Given the description of an element on the screen output the (x, y) to click on. 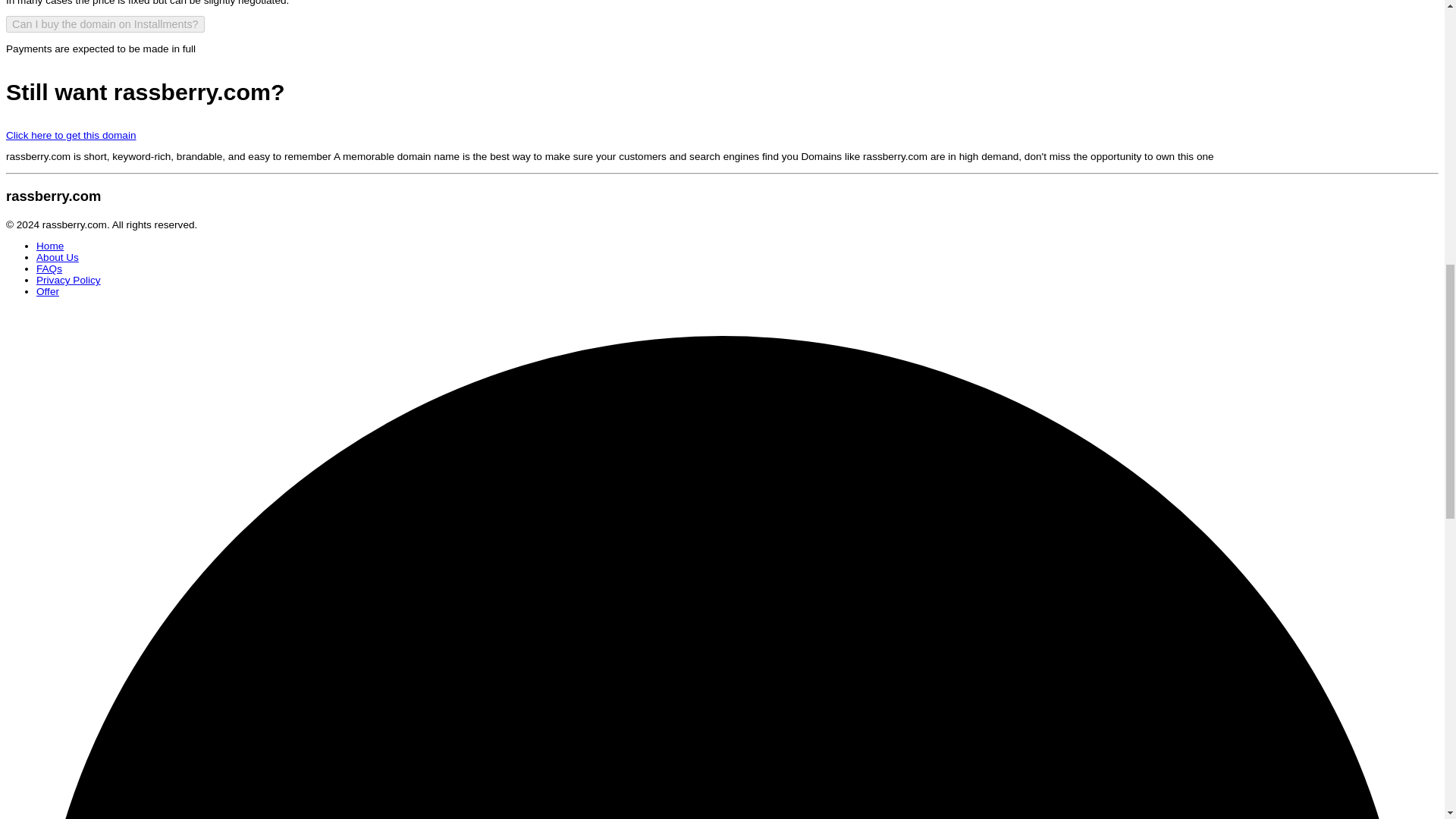
Click here to get this domain (70, 134)
Privacy Policy (68, 279)
FAQs (49, 268)
Home (50, 245)
Offer (47, 291)
Can I buy the domain on Installments? (105, 23)
About Us (57, 256)
